Given the description of an element on the screen output the (x, y) to click on. 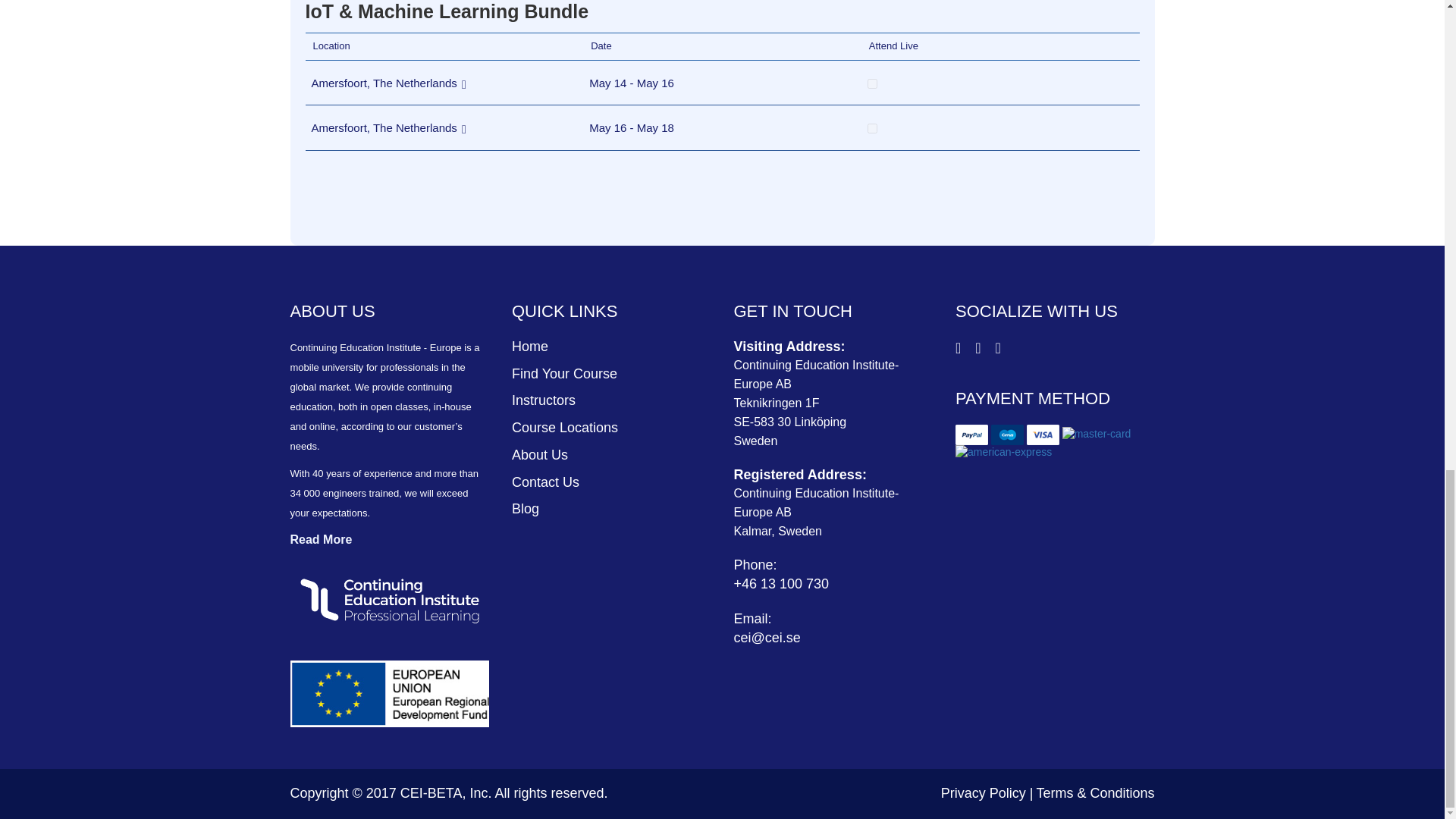
Read more (320, 539)
412 (872, 128)
Instructors (543, 400)
Course Locations (564, 427)
Blog (525, 508)
Find Your Course (564, 373)
About Us (539, 454)
Read More (320, 539)
411 (872, 83)
Home (530, 346)
Contact Us (545, 482)
